Given the description of an element on the screen output the (x, y) to click on. 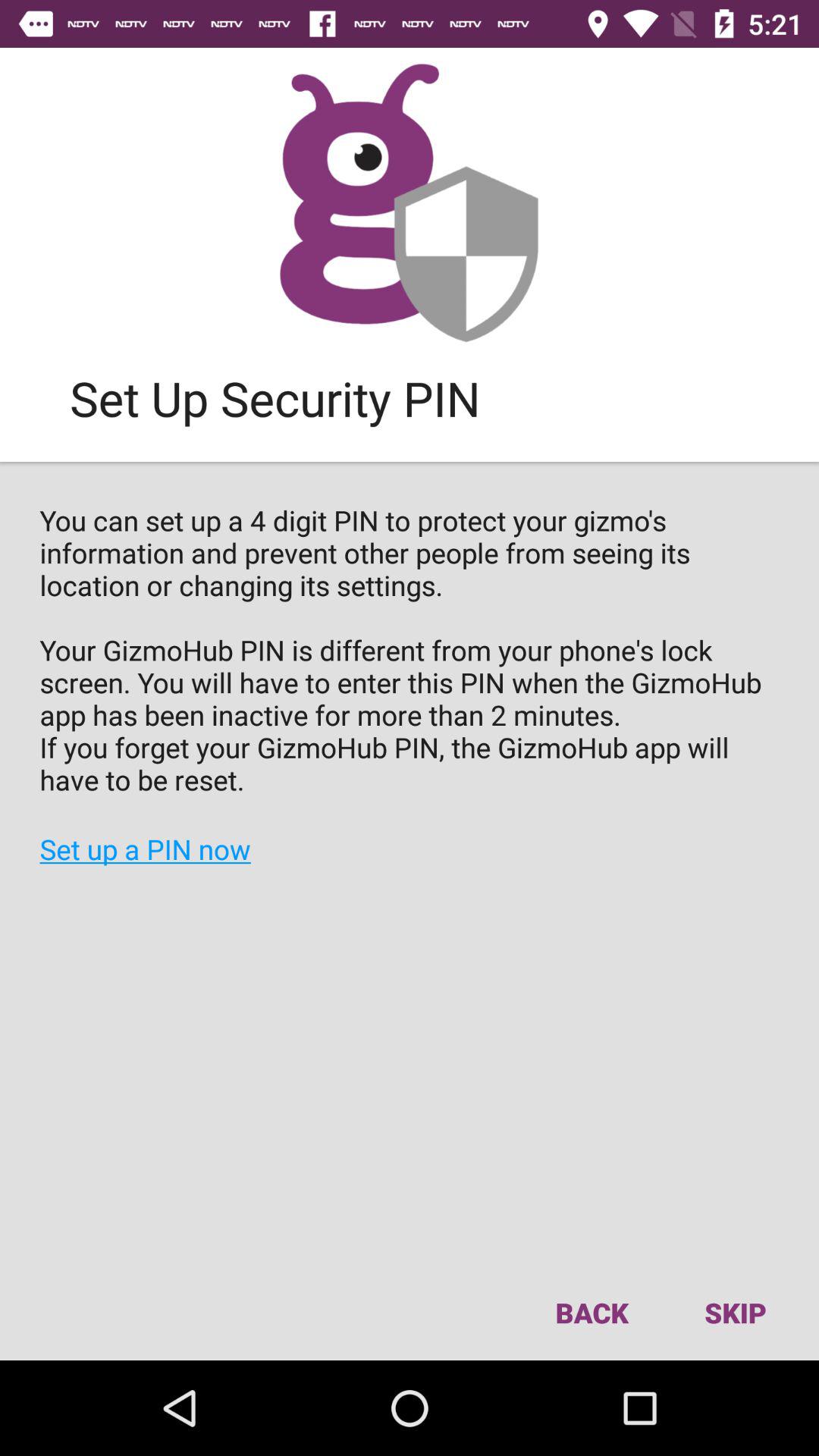
jump until the skip icon (735, 1312)
